Given the description of an element on the screen output the (x, y) to click on. 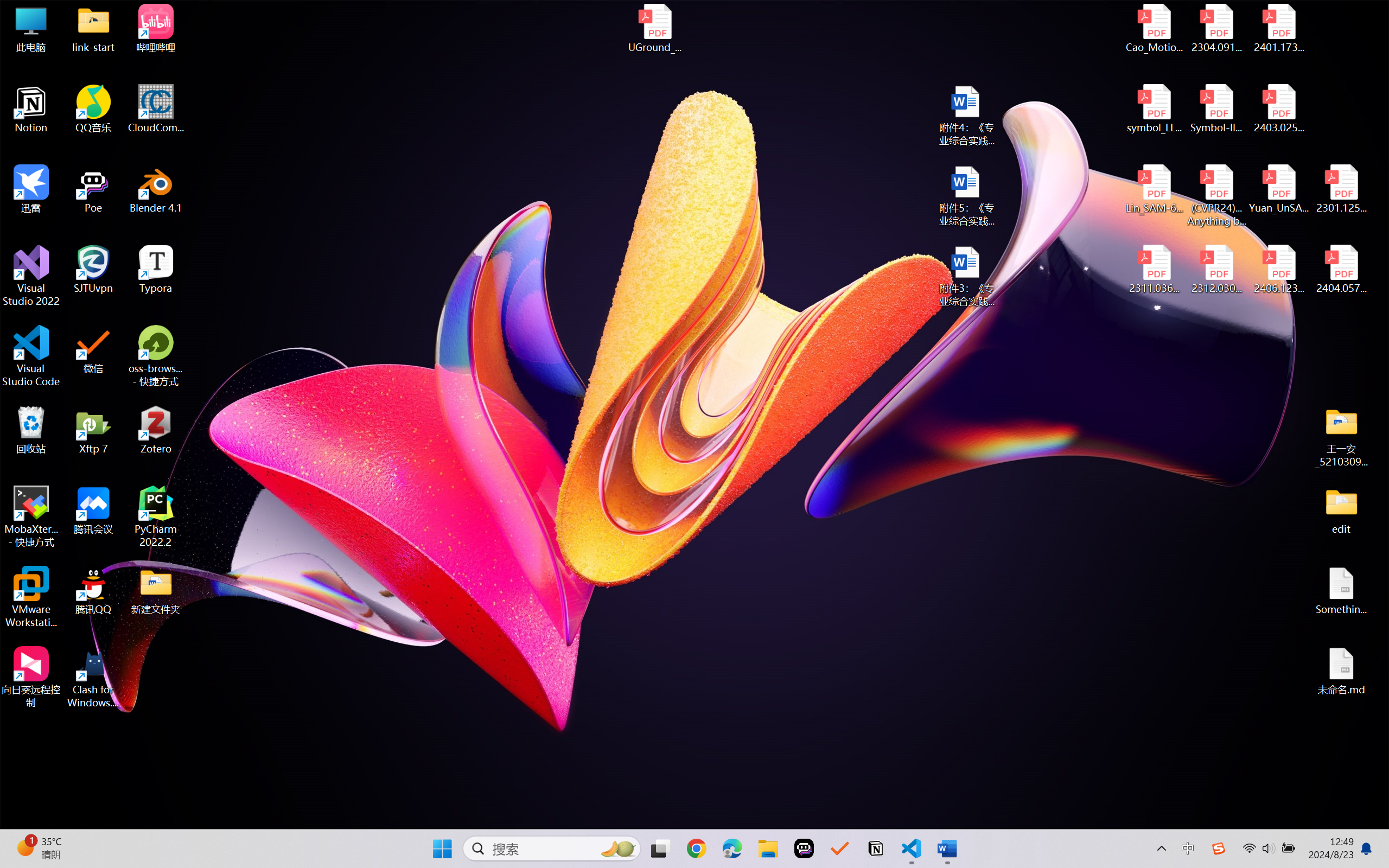
Key terms (82, 184)
Partners (82, 211)
Sign in - Google Accounts (887, 12)
Technologies (255, 99)
Data transfer frameworks (82, 157)
Sign in - Google Accounts (525, 12)
Sign in - Google Accounts (486, 12)
